Given the description of an element on the screen output the (x, y) to click on. 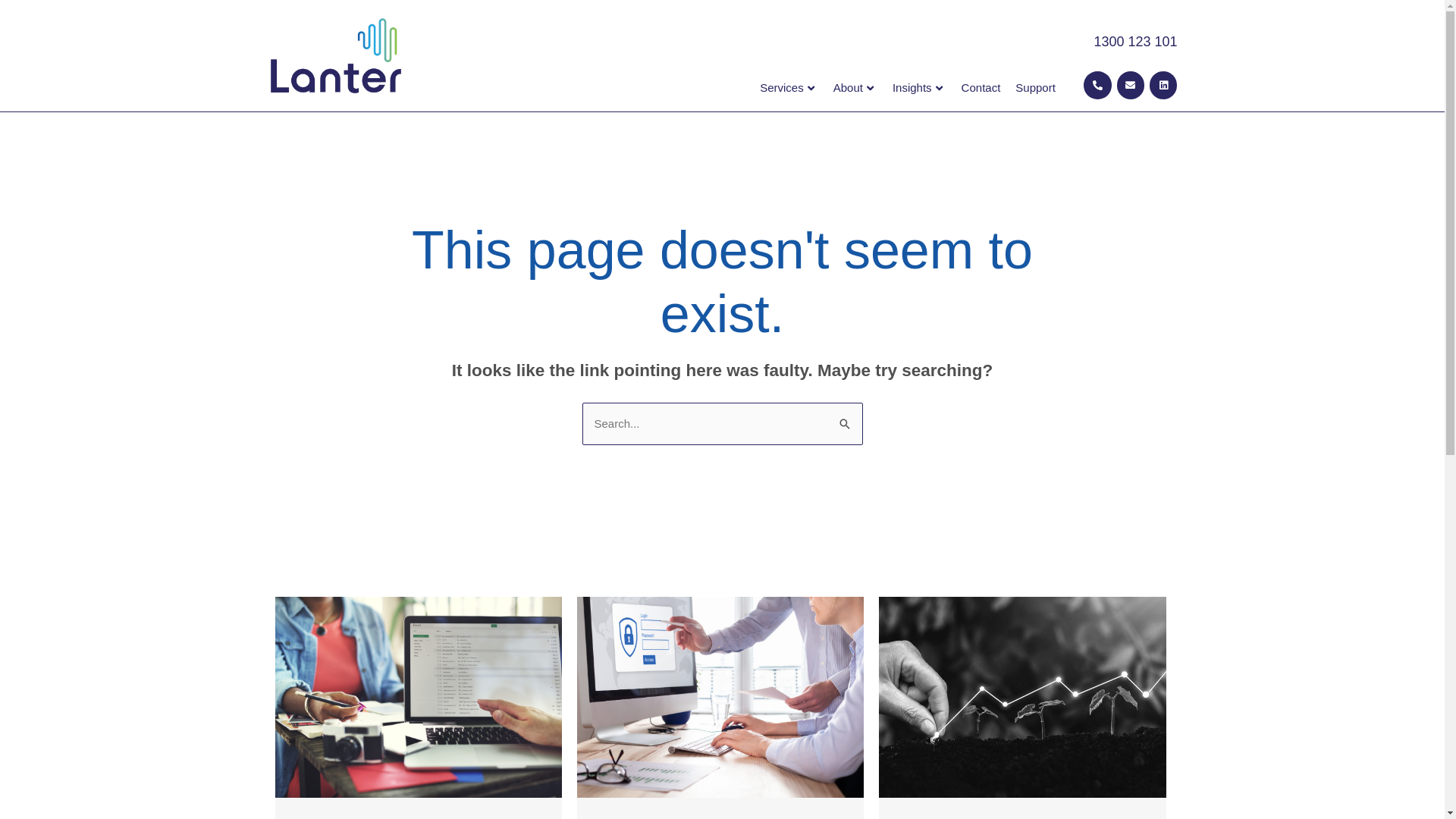
Linkedin Element type: text (1162, 84)
Phone-alt Element type: text (1096, 84)
Envelope Element type: text (1130, 84)
Insights Element type: text (918, 87)
Contact Element type: text (980, 87)
1300 123 101 Element type: text (1134, 41)
About Element type: text (854, 87)
Services Element type: text (788, 87)
Search Element type: text (845, 417)
Support Element type: text (1035, 87)
